Given the description of an element on the screen output the (x, y) to click on. 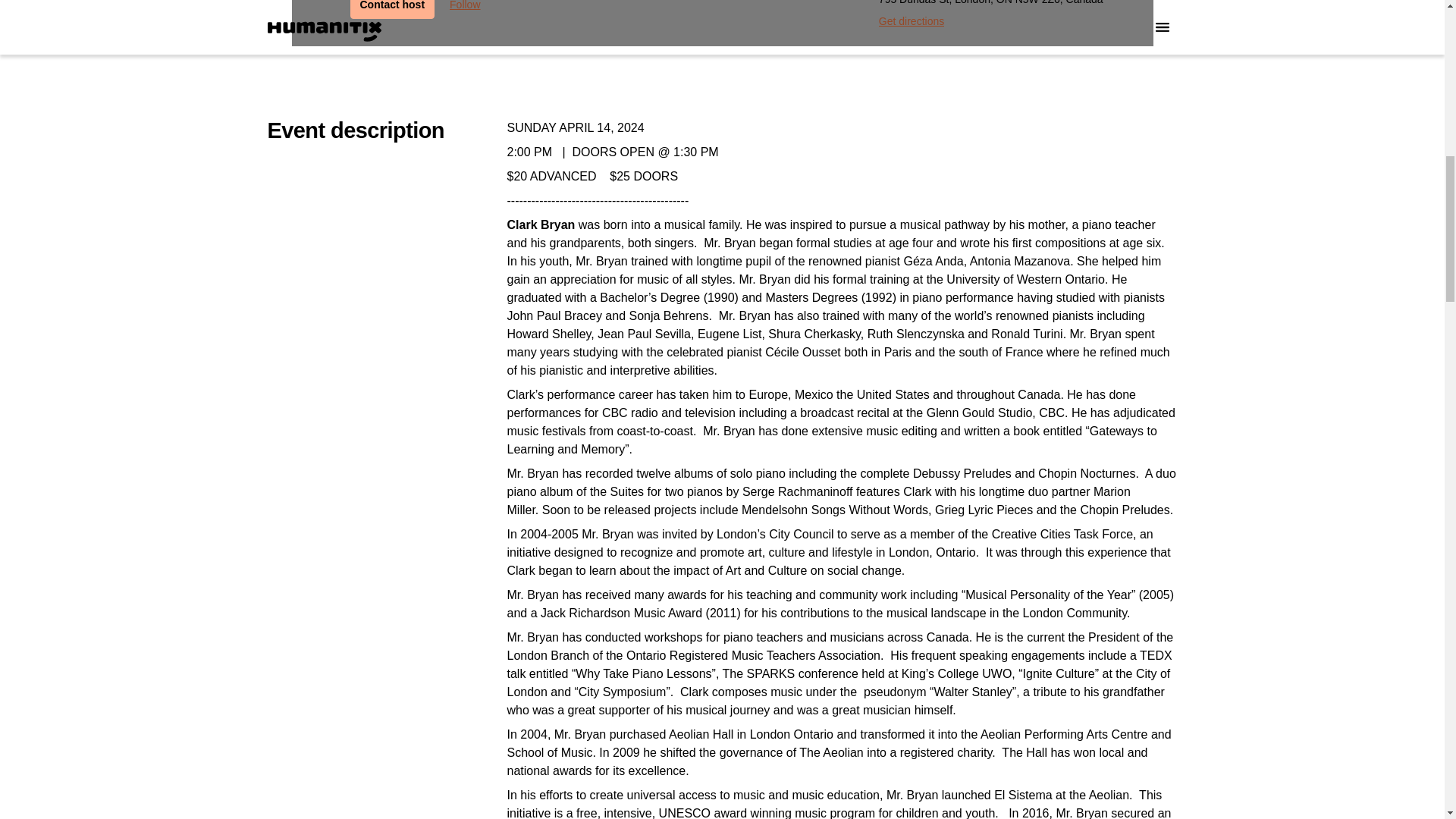
Get directions (911, 21)
Follow (465, 9)
